Given the description of an element on the screen output the (x, y) to click on. 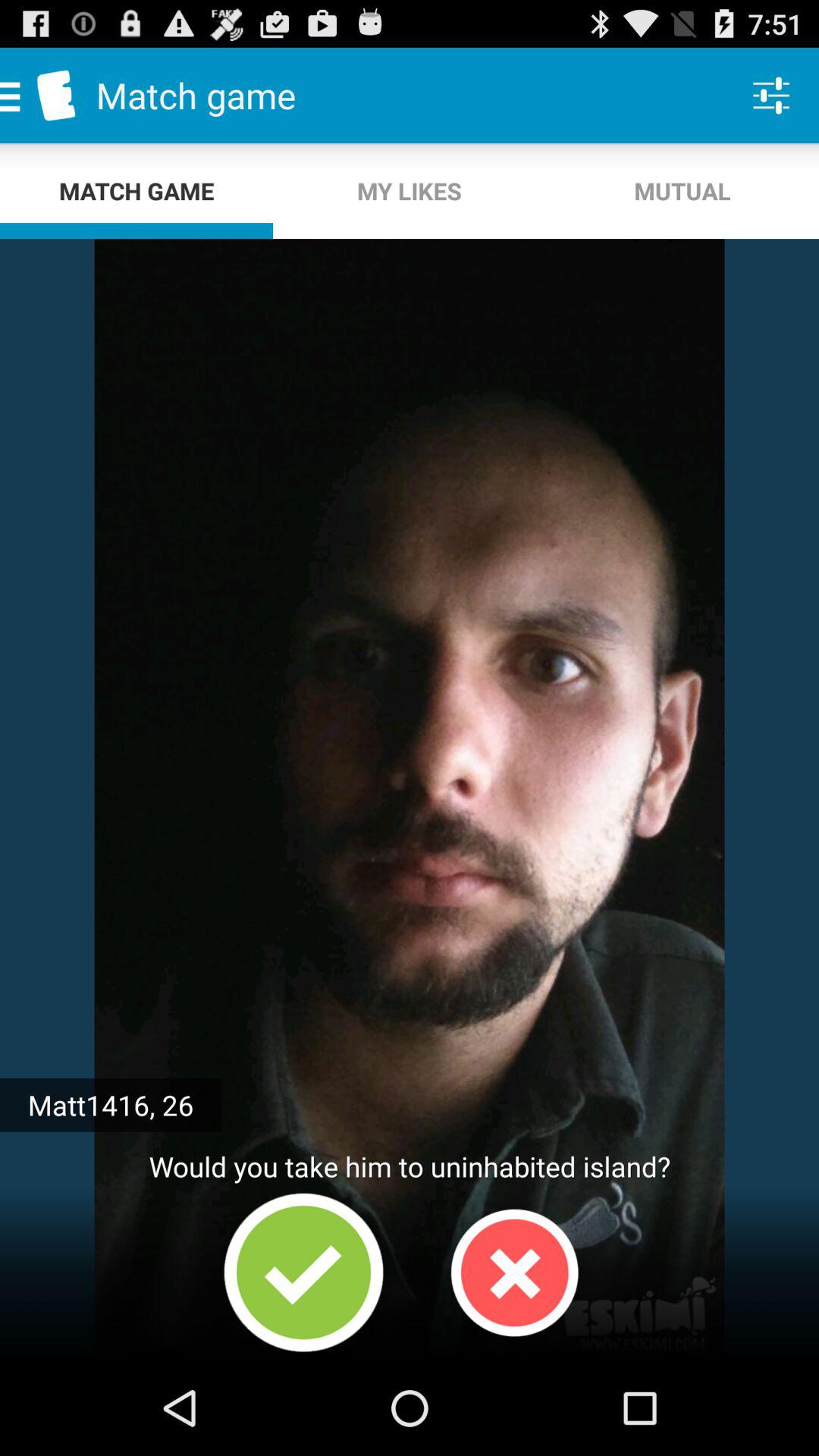
open the app to the right of the my likes (771, 95)
